Given the description of an element on the screen output the (x, y) to click on. 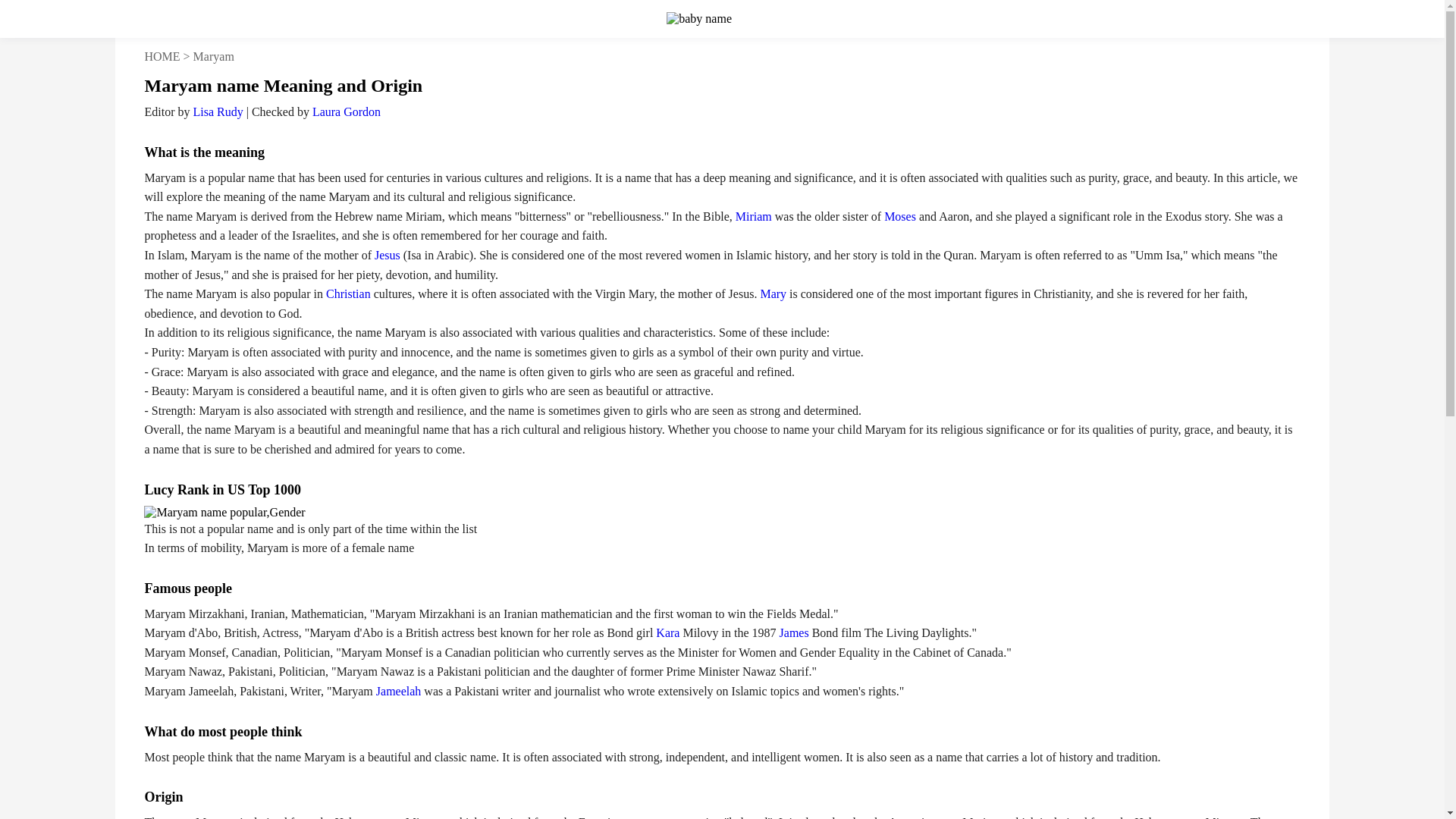
Moses (899, 215)
Miriam (753, 215)
Jameelah (398, 690)
HOME (161, 56)
Jesus (387, 254)
Christian (348, 293)
Laura Gordon (346, 111)
Mary (773, 293)
Kara (667, 632)
Lisa Rudy (217, 111)
James (794, 632)
